Given the description of an element on the screen output the (x, y) to click on. 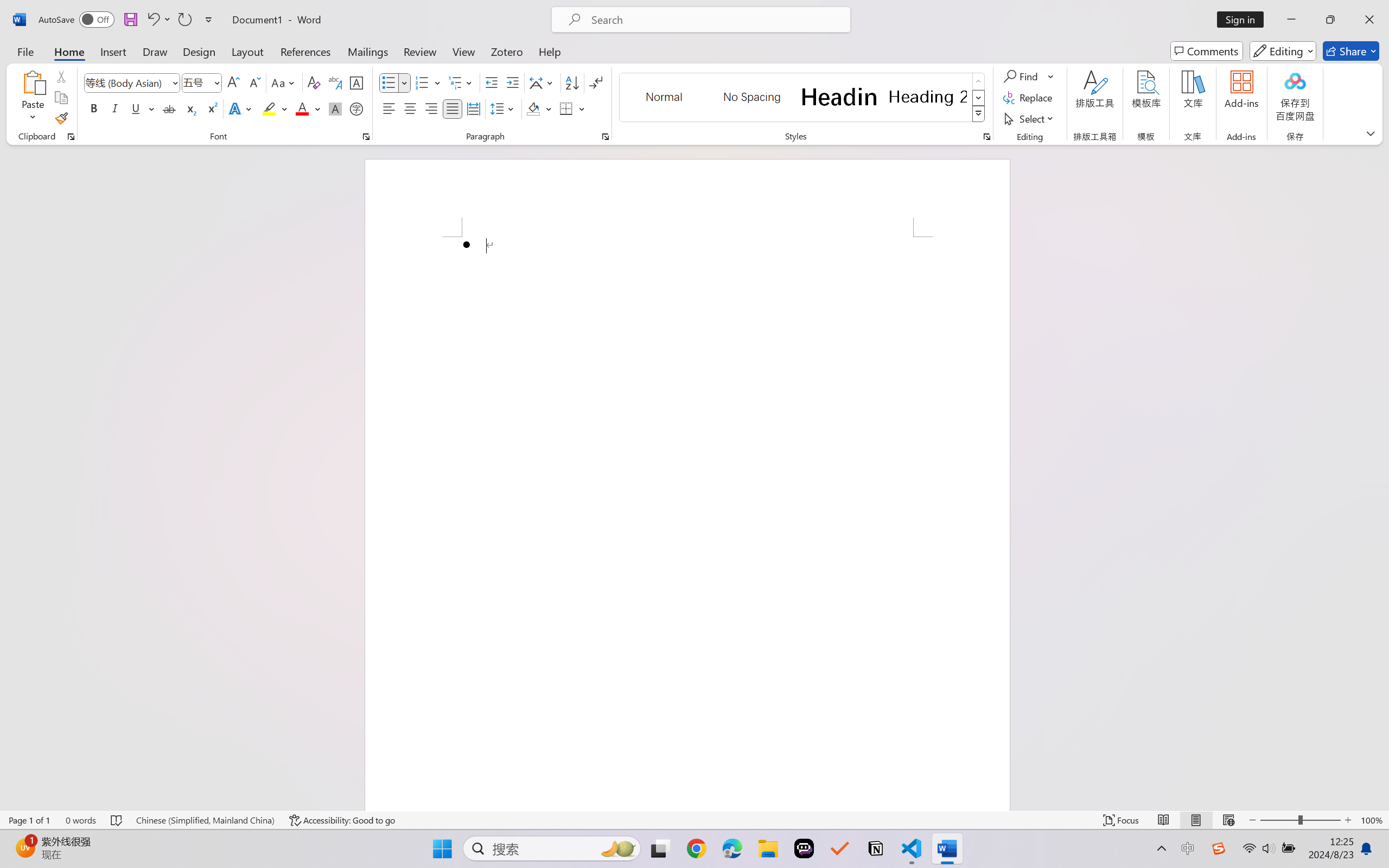
Sign in (1244, 19)
